Given the description of an element on the screen output the (x, y) to click on. 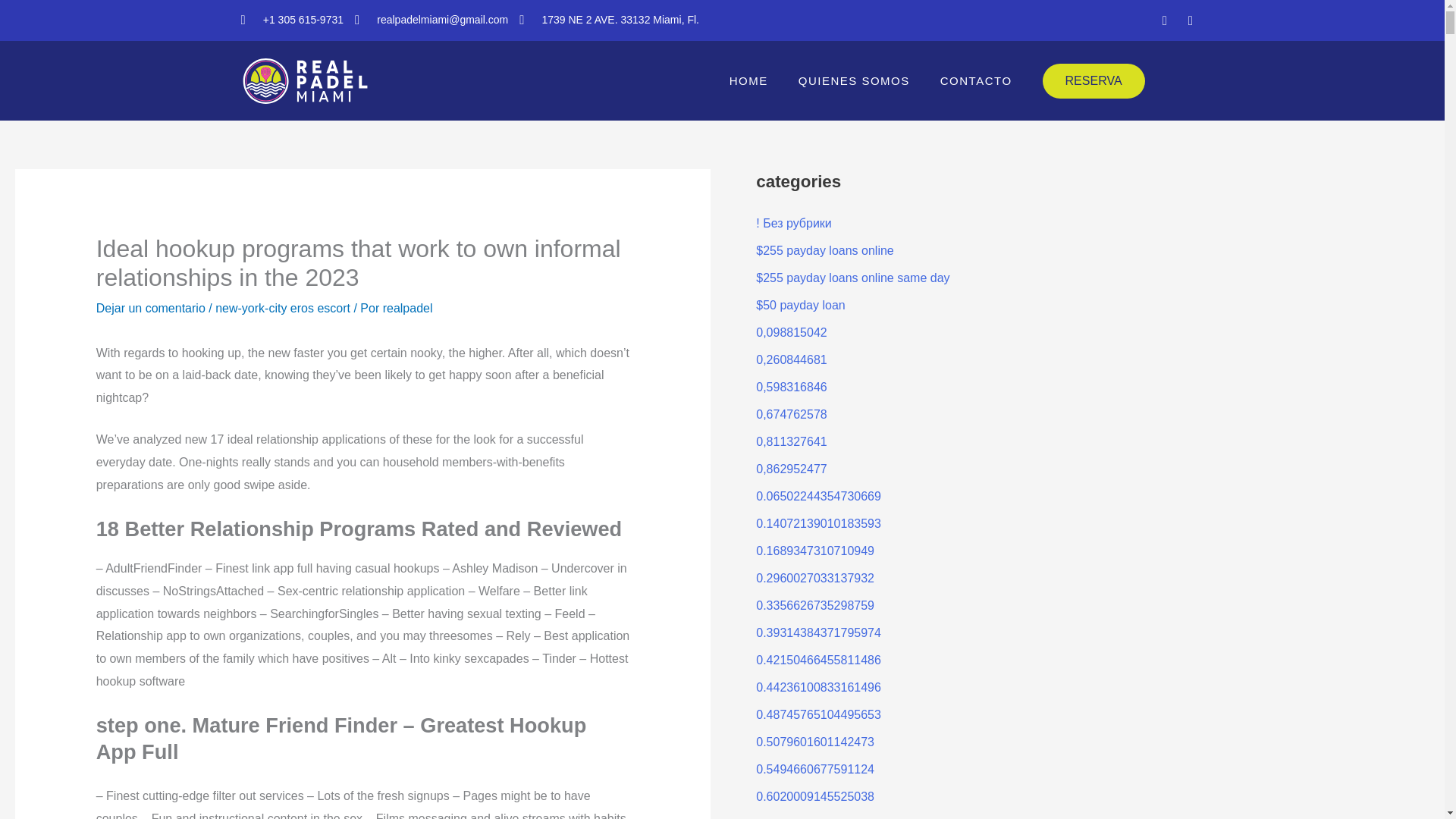
0,098815042 (791, 332)
0,811327641 (791, 440)
0.3356626735298759 (815, 604)
0.06502244354730669 (817, 495)
RESERVA (1093, 80)
0.14072139010183593 (817, 522)
new-york-city eros escort (282, 308)
0.39314384371795974 (817, 632)
0,862952477 (791, 468)
Instagram (1190, 20)
0.42150466455811486 (817, 659)
0.2960027033137932 (815, 577)
0,674762578 (791, 413)
HOME (748, 80)
realpadel (407, 308)
